Given the description of an element on the screen output the (x, y) to click on. 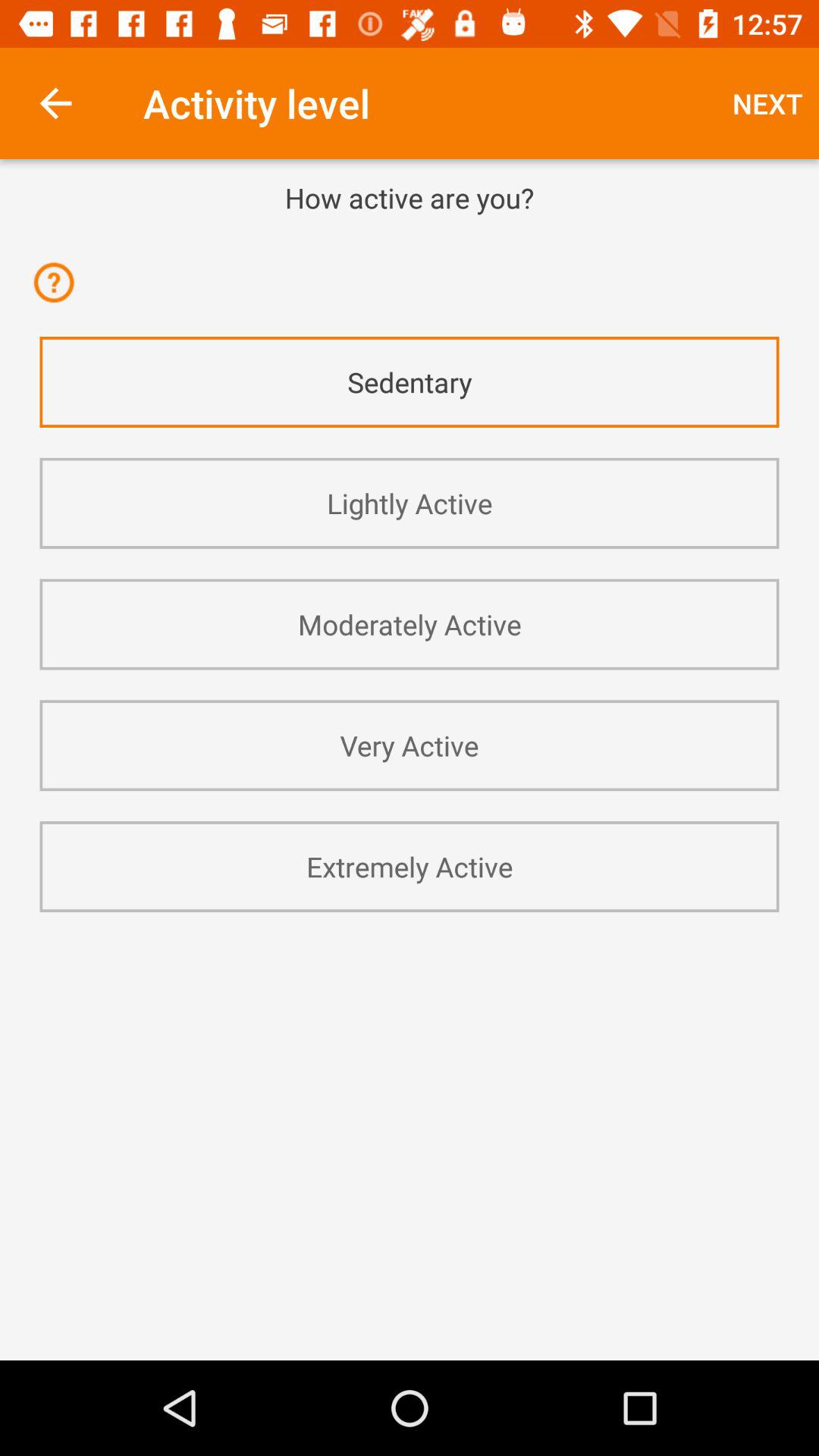
open app below the extremely active item (409, 953)
